Given the description of an element on the screen output the (x, y) to click on. 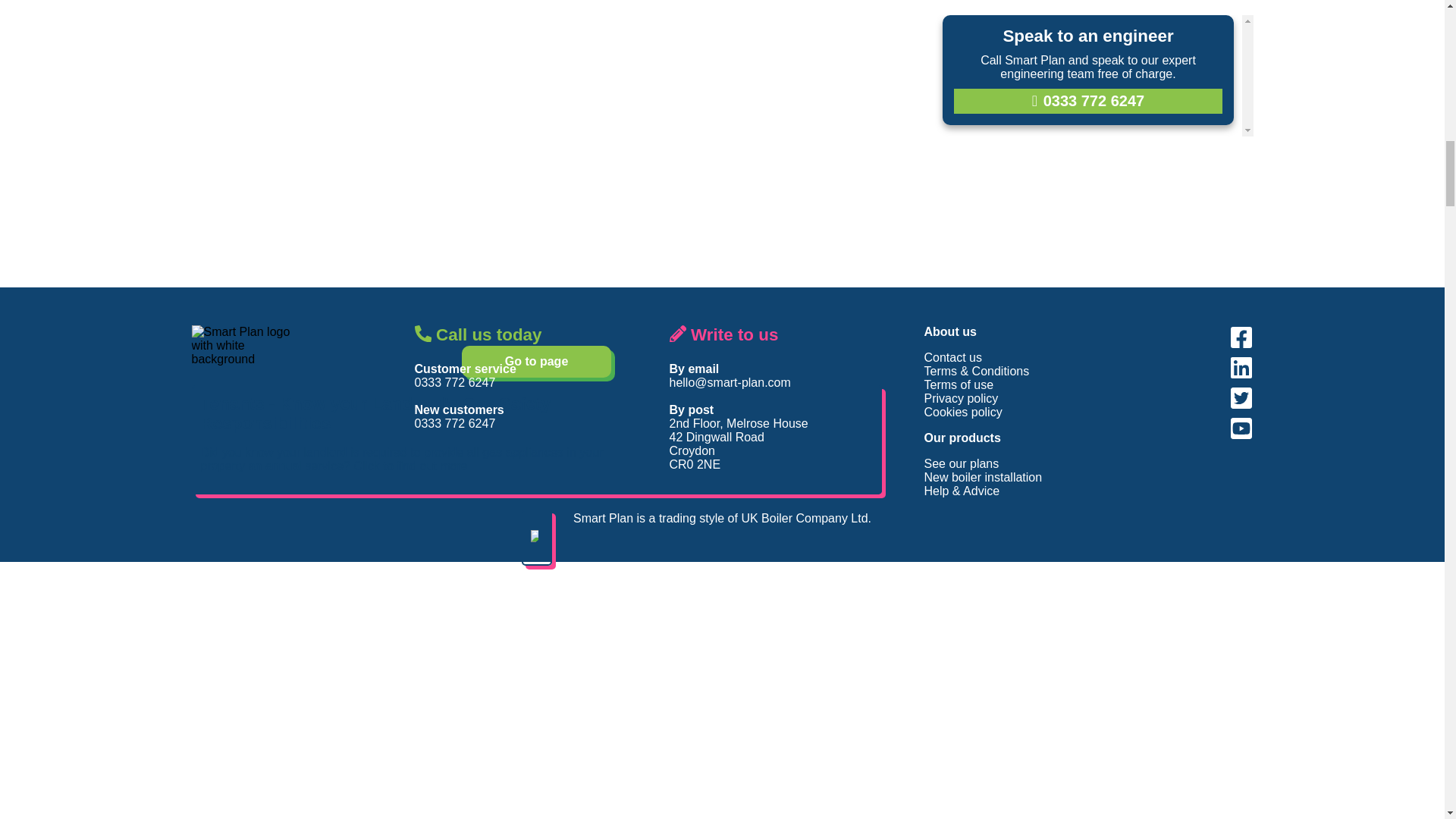
See our plans (960, 463)
Privacy policy (960, 398)
New boiler installation (982, 477)
0333 772 6247 (454, 382)
Go to page (536, 361)
Terms of use (957, 384)
Cookies policy (962, 411)
0333 772 6247 (454, 422)
Smart Plan logo with white background (247, 345)
